Given the description of an element on the screen output the (x, y) to click on. 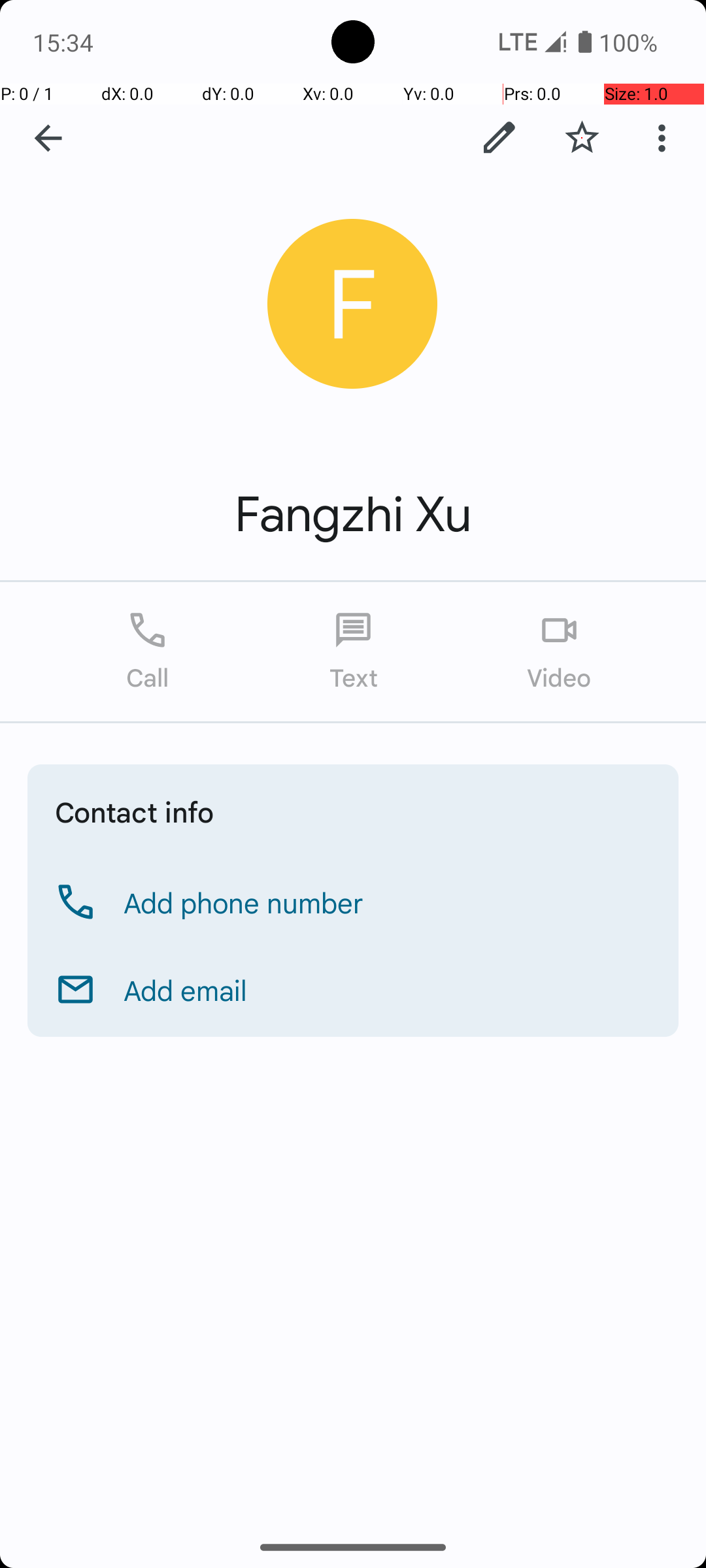
Edit contact Element type: android.widget.Button (498, 137)
Contact photo Element type: android.widget.ImageView (352, 303)
Text Element type: android.widget.TextView (353, 651)
Contact info Element type: android.widget.TextView (134, 811)
Add phone number Element type: android.widget.TextView (243, 901)
Add email Element type: android.widget.TextView (185, 989)
